Given the description of an element on the screen output the (x, y) to click on. 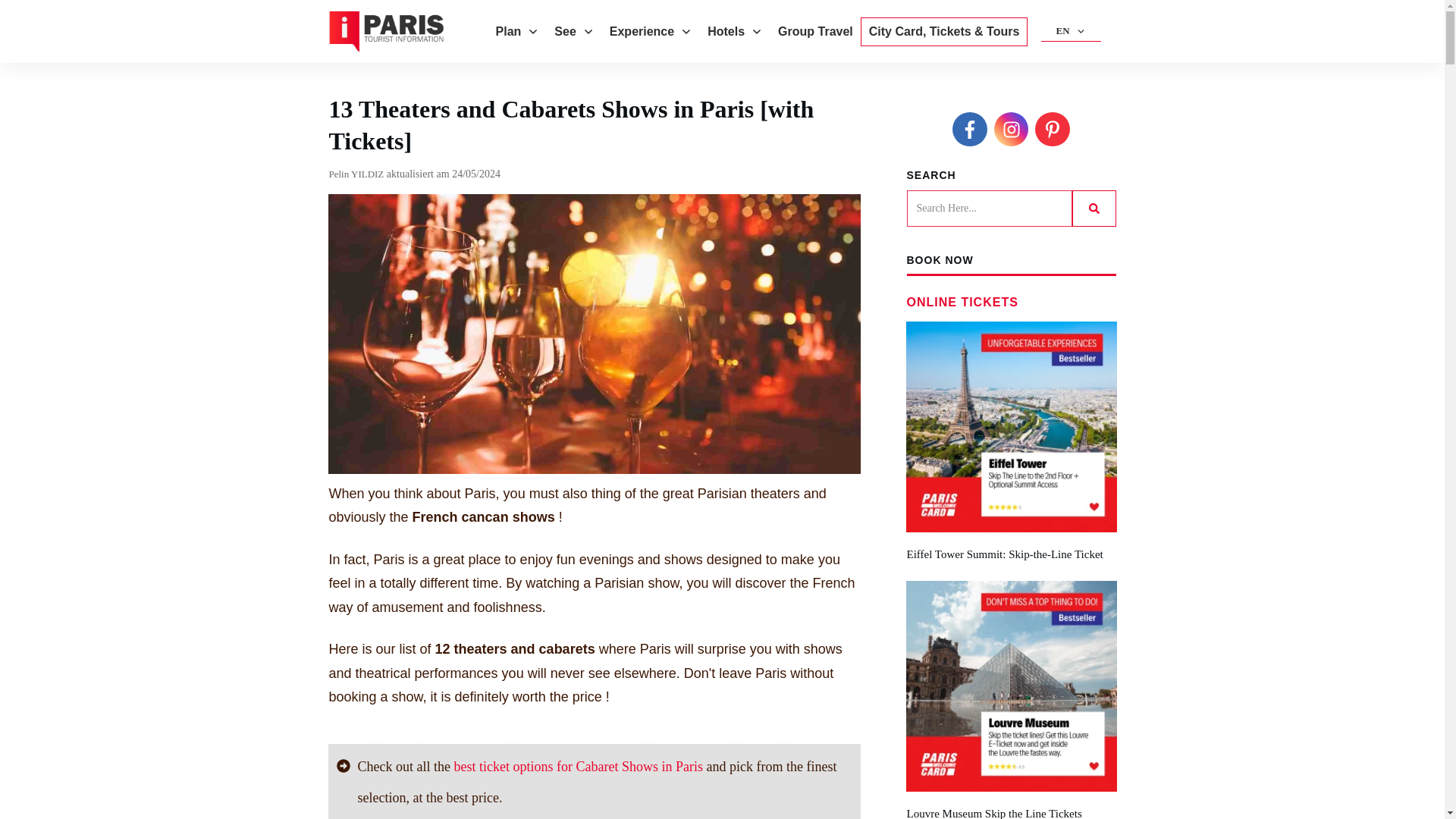
See (574, 31)
Hotels (734, 31)
Experience (651, 31)
Plan (518, 31)
